Given the description of an element on the screen output the (x, y) to click on. 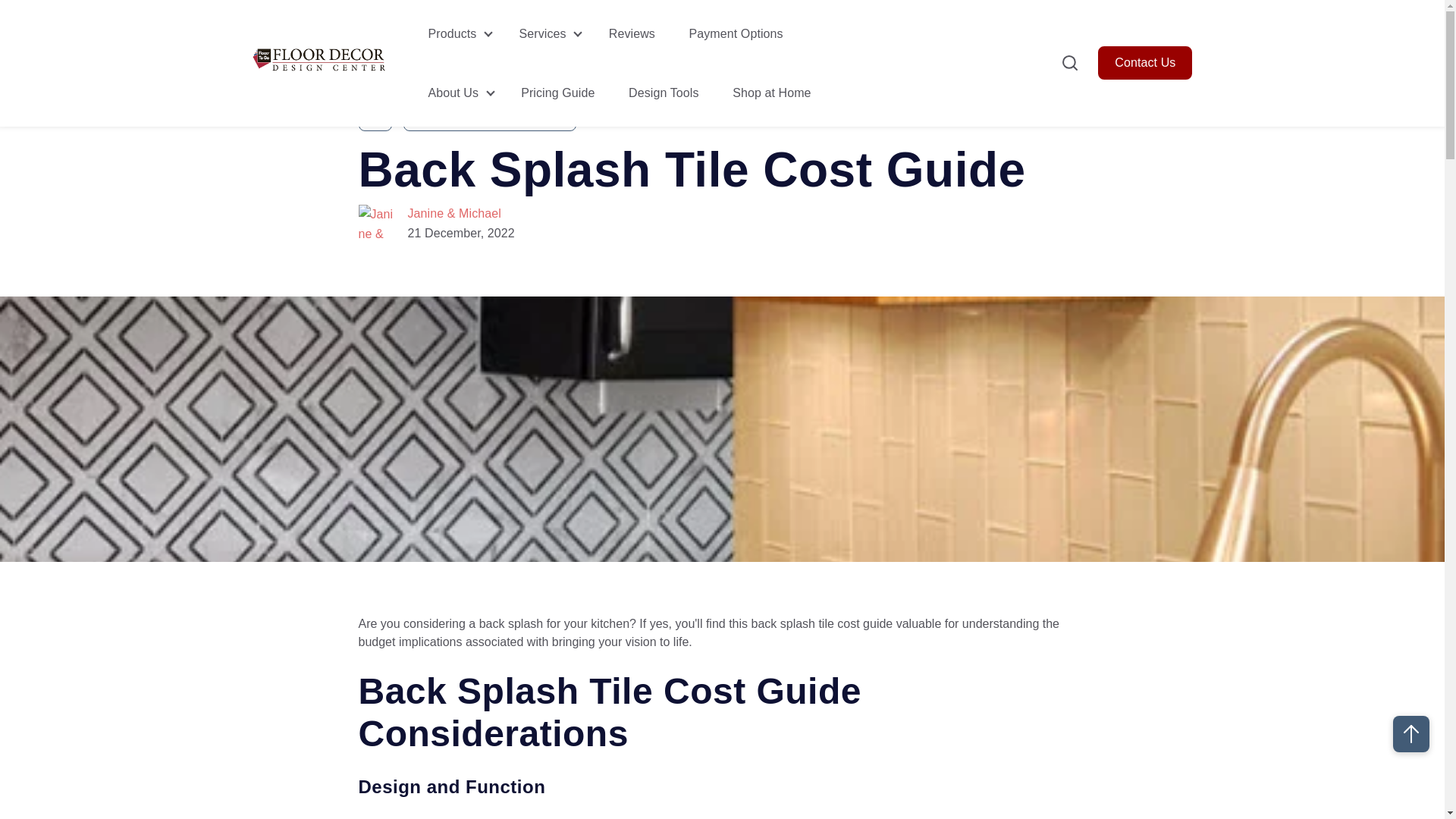
Payment Options (735, 33)
Design Tools (663, 92)
Reviews (631, 33)
Pricing Guide (557, 92)
Shop at Home (771, 92)
Products (452, 33)
Floor Decor Design Center, Orange CT (319, 59)
Services (542, 33)
About Us (453, 92)
